Given the description of an element on the screen output the (x, y) to click on. 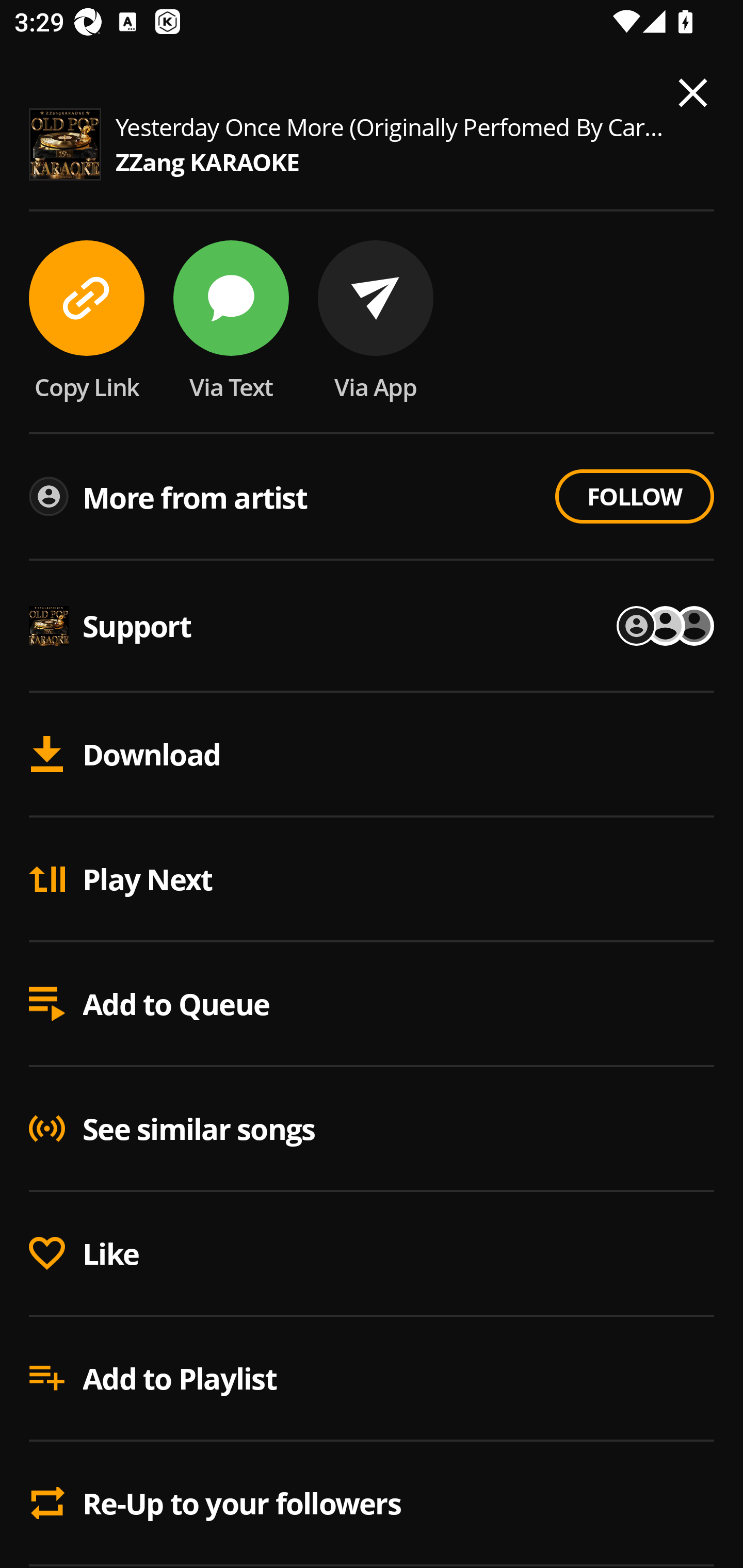
Cancel (670, 82)
More from artist FOLLOW Follow (371, 497)
FOLLOW Follow (634, 495)
Song artwork Support (371, 627)
Download (371, 754)
Play Next (371, 879)
Add to Queue (371, 1004)
See similar songs (371, 1129)
Like (371, 1254)
Add to Playlist (371, 1378)
Re-Up to your followers (371, 1503)
